Given the description of an element on the screen output the (x, y) to click on. 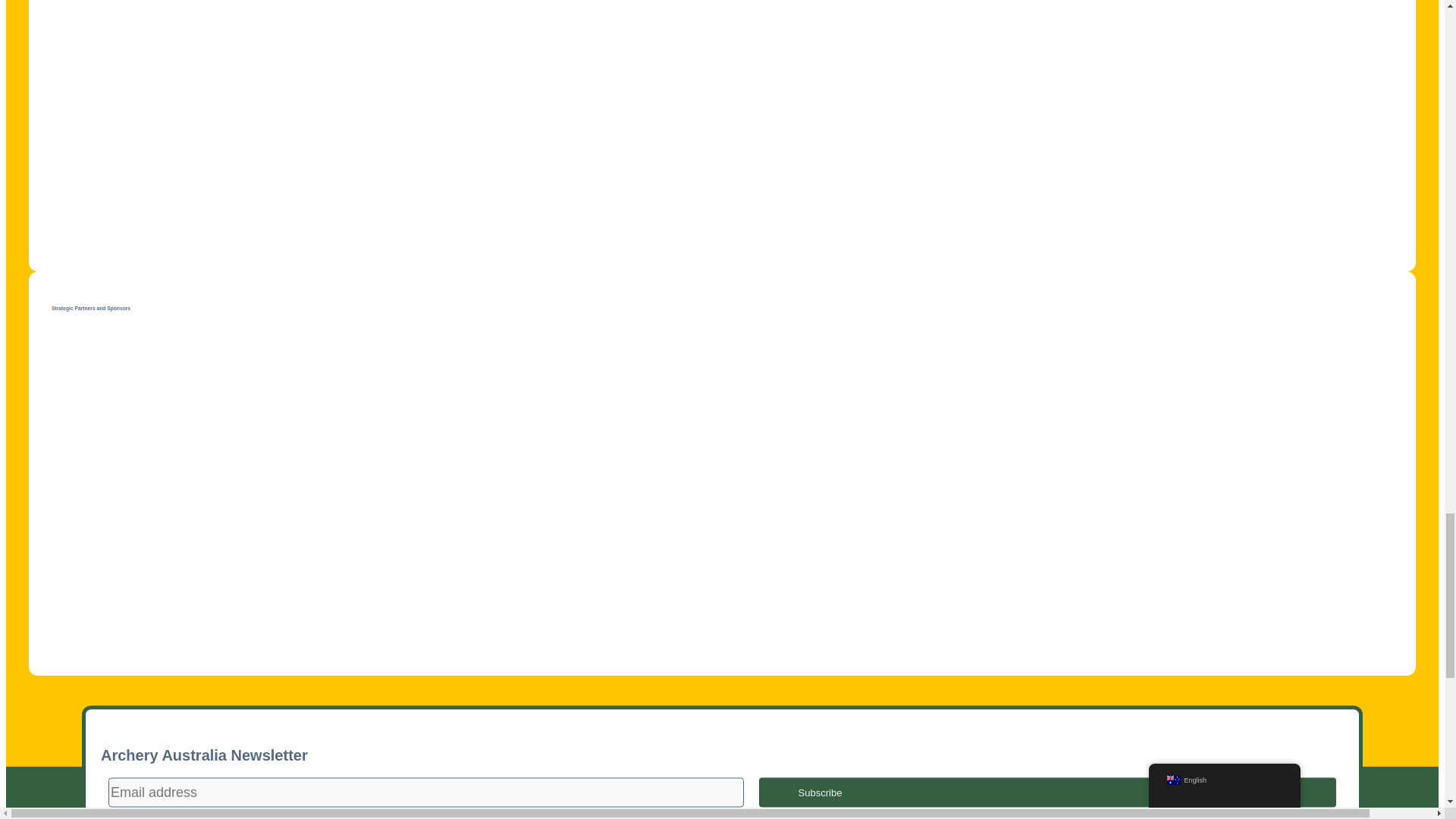
Subscribe (1047, 791)
